Given the description of an element on the screen output the (x, y) to click on. 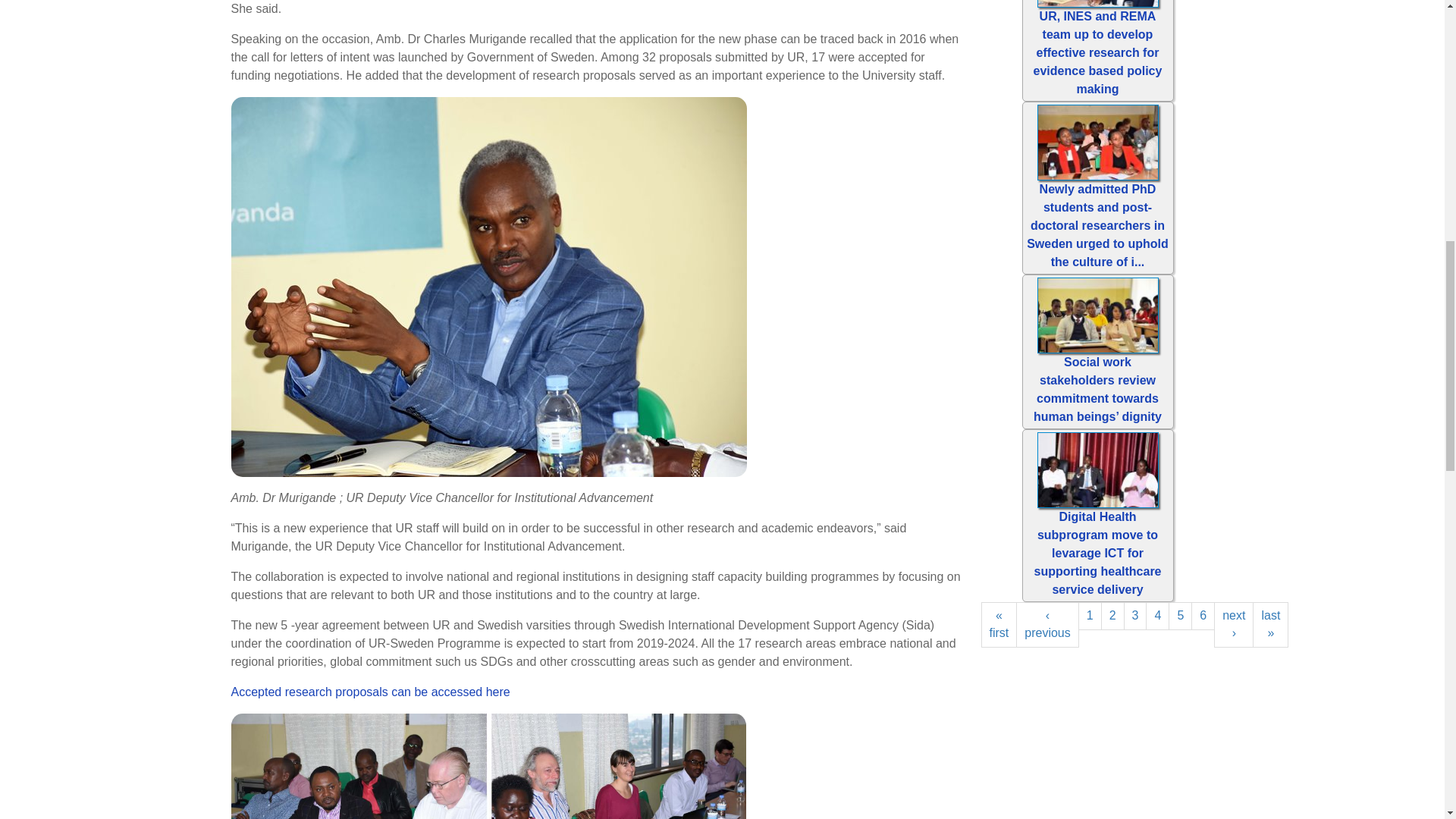
Go to previous page (1047, 624)
